Given the description of an element on the screen output the (x, y) to click on. 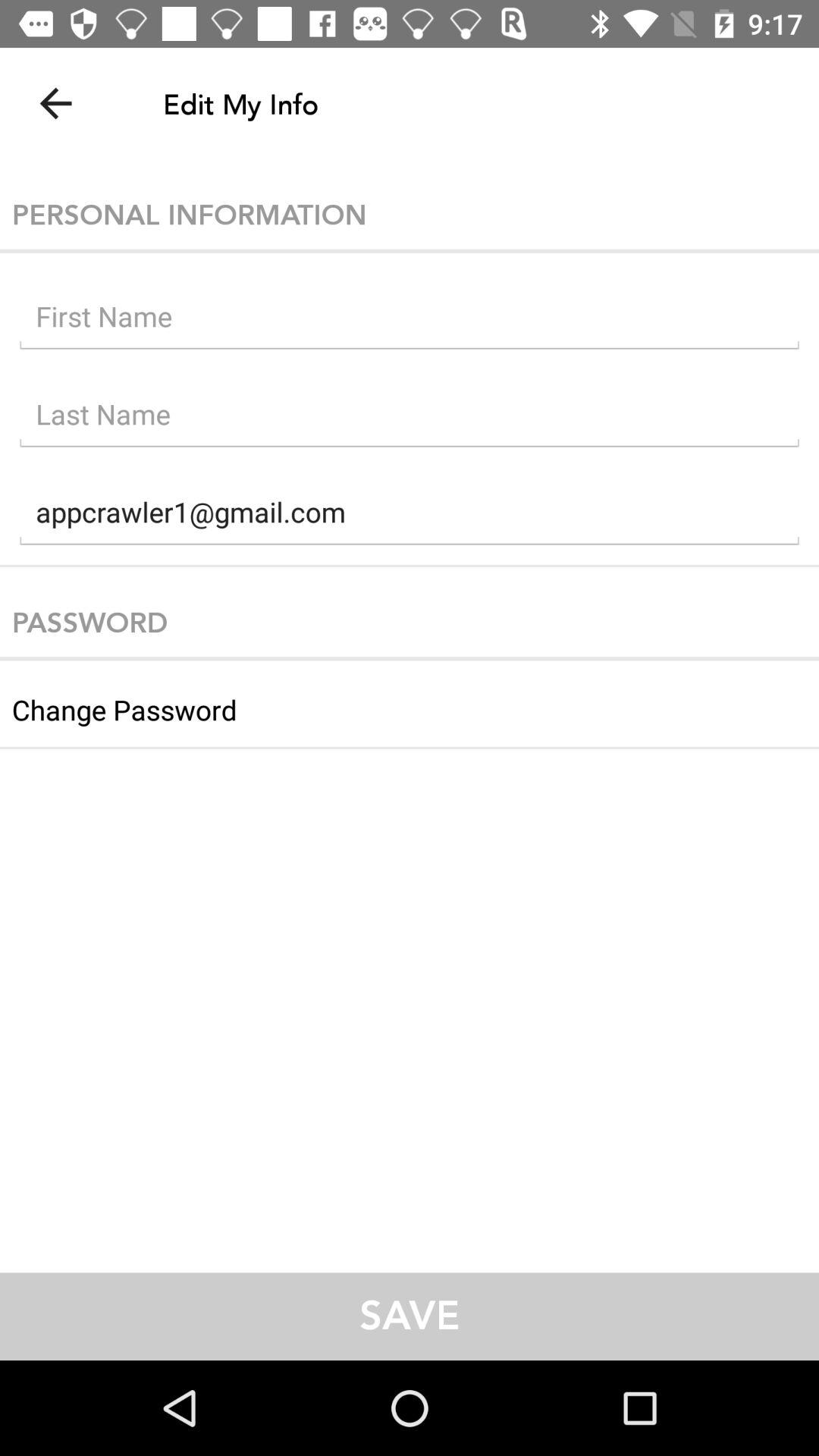
turn on save icon (409, 1316)
